Given the description of an element on the screen output the (x, y) to click on. 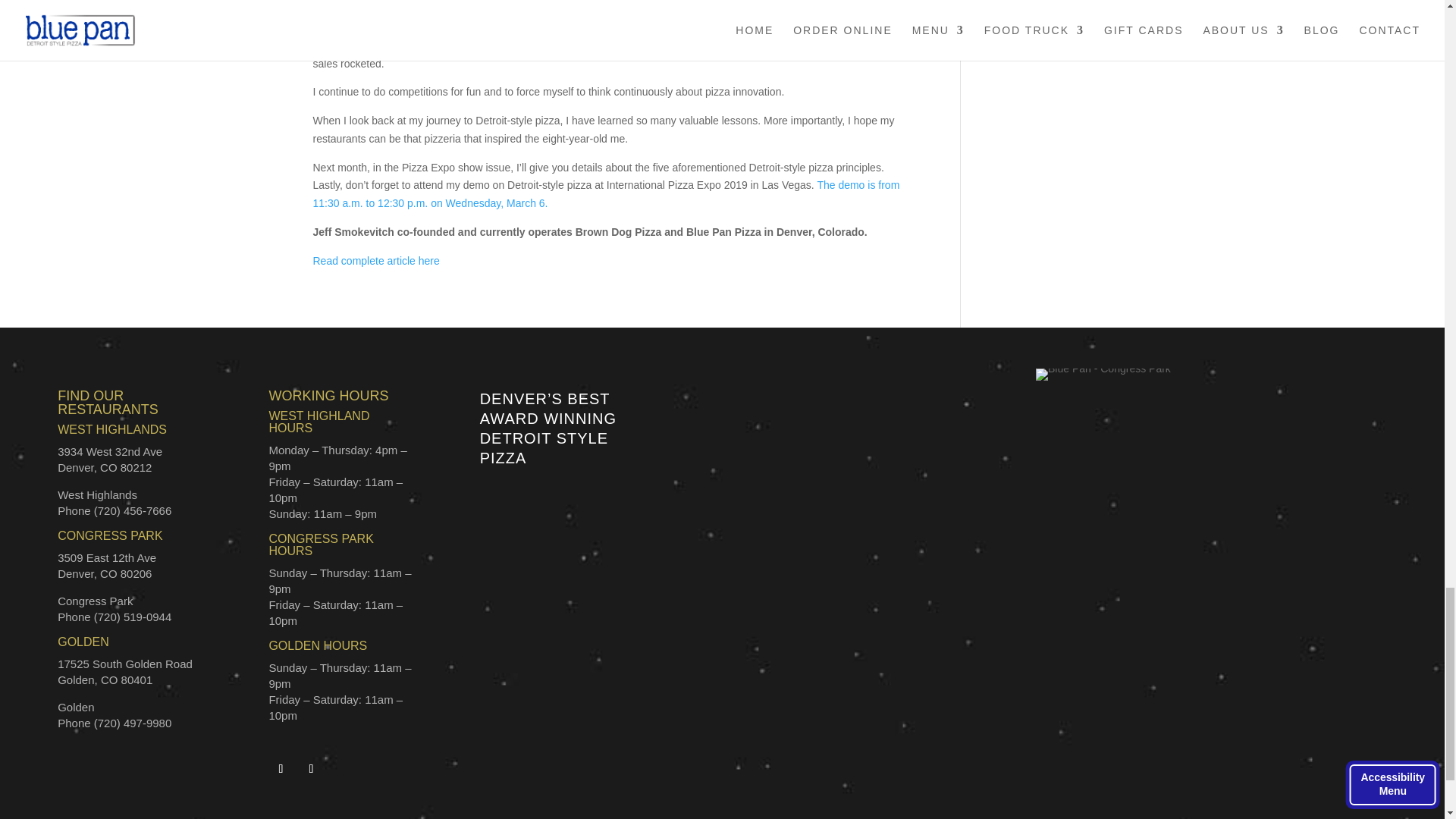
Follow on Facebook (279, 768)
Follow on Instagram (310, 768)
